Given the description of an element on the screen output the (x, y) to click on. 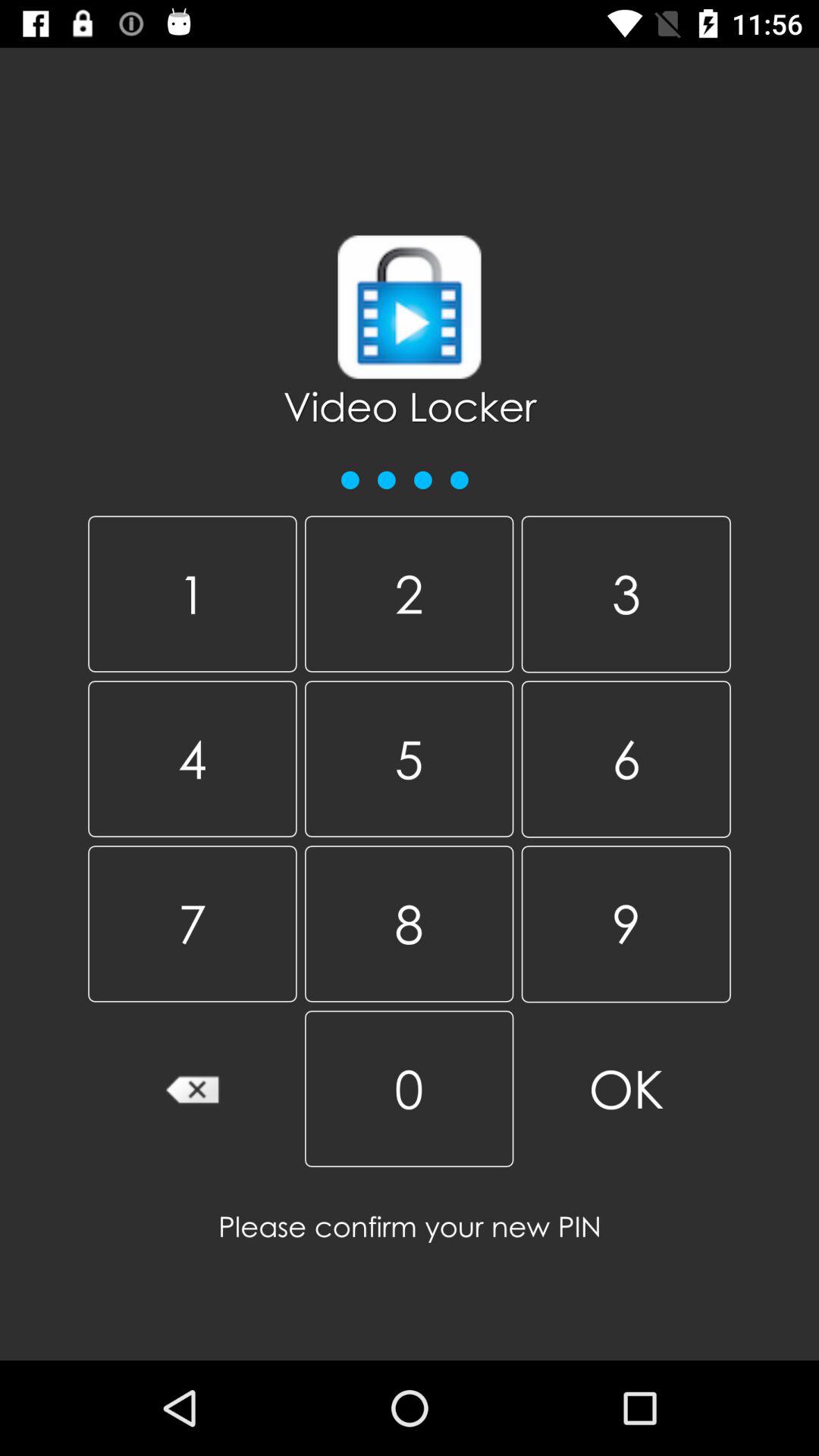
select the item above 7 icon (408, 758)
